Given the description of an element on the screen output the (x, y) to click on. 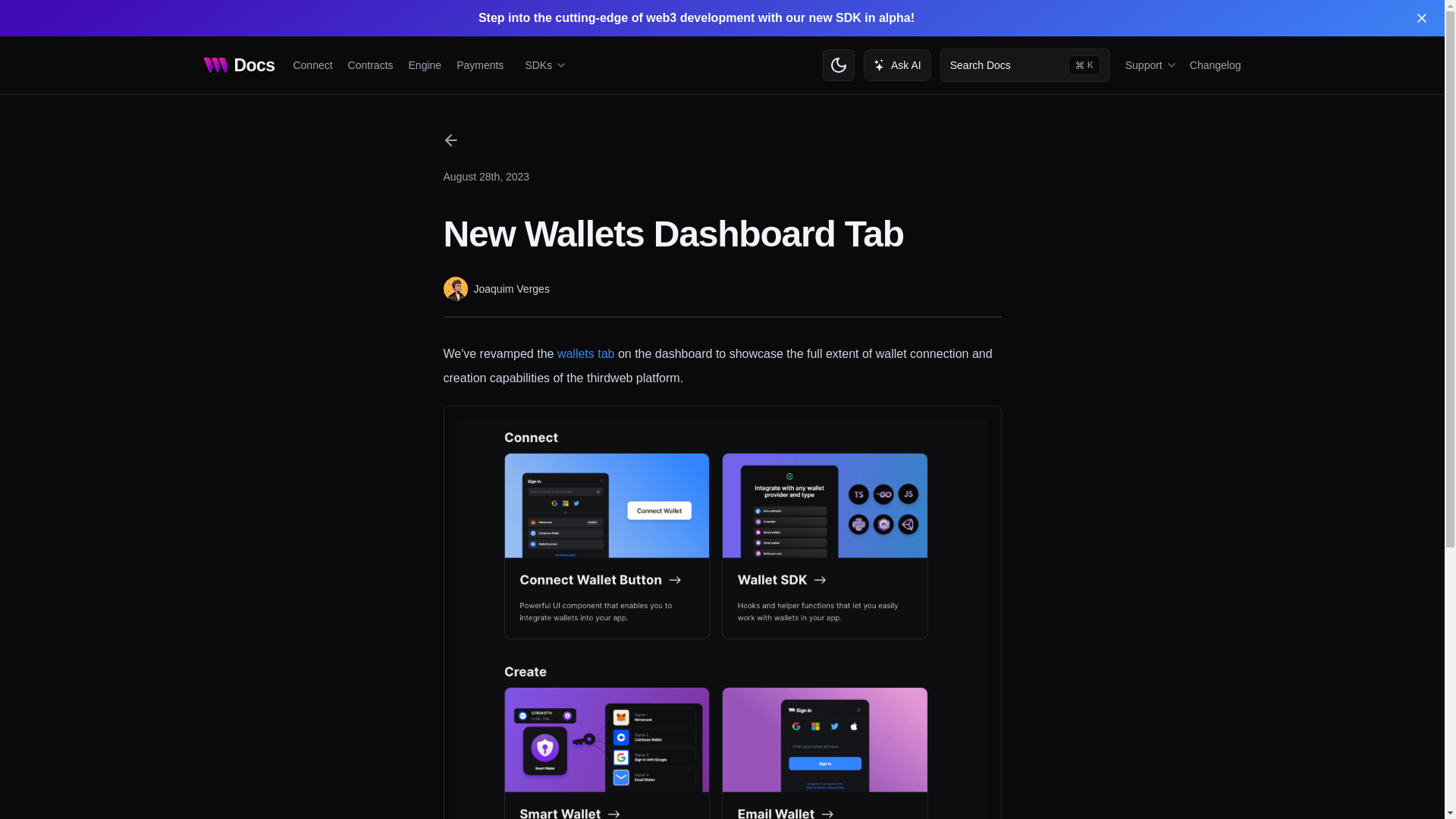
Changelog (1215, 64)
Contracts (370, 64)
Engine (1024, 64)
thirdweb Docs (425, 64)
wallets tab (239, 64)
Docs (585, 353)
Connect (239, 64)
Payments (311, 64)
Support (480, 64)
Ask AI (1149, 64)
SDKs (897, 65)
